Given the description of an element on the screen output the (x, y) to click on. 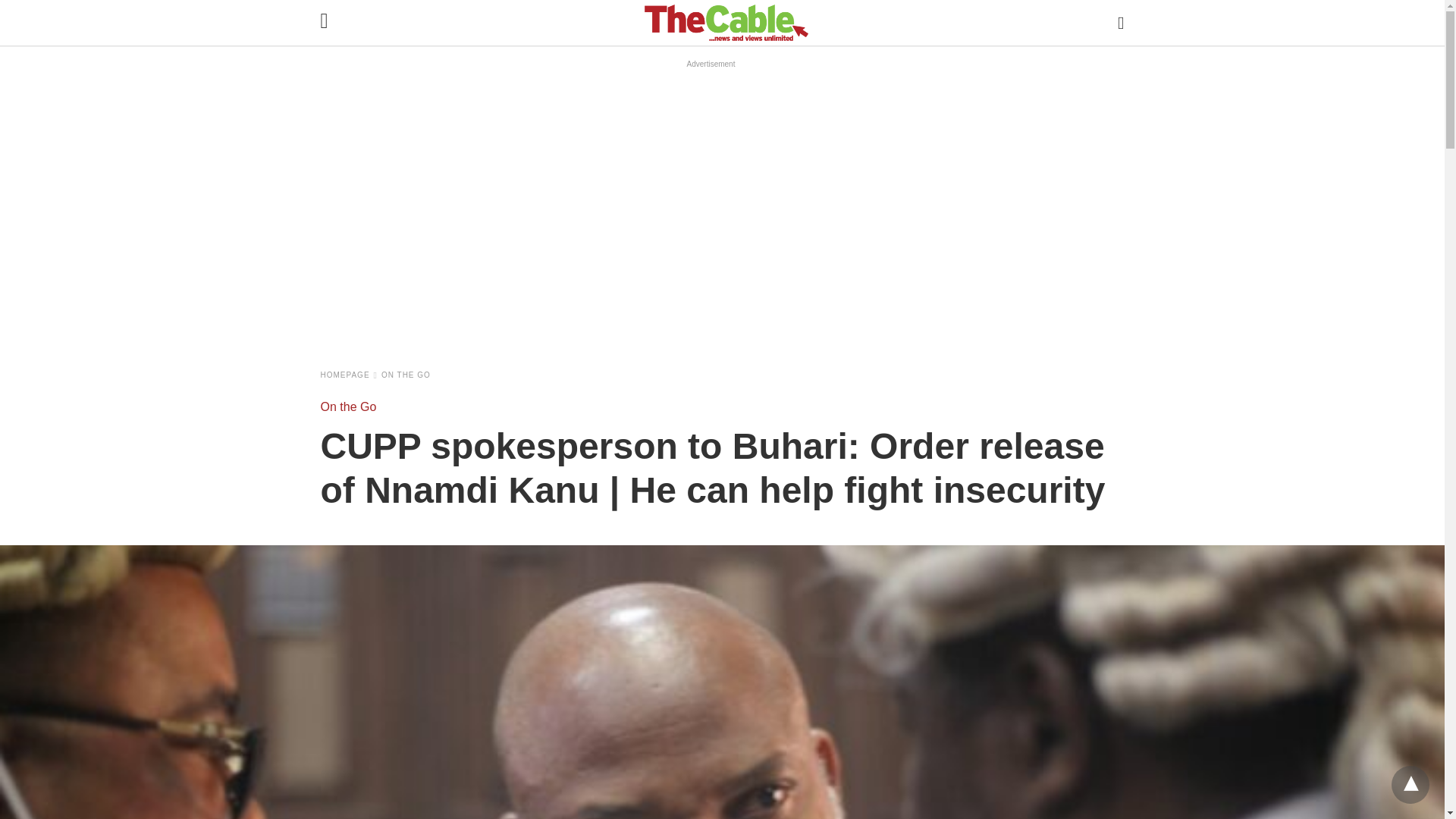
On the Go (405, 375)
On the Go (347, 406)
On the Go (347, 406)
HOMEPAGE (348, 375)
TheCable (725, 22)
ON THE GO (405, 375)
Homepage (348, 375)
